Given the description of an element on the screen output the (x, y) to click on. 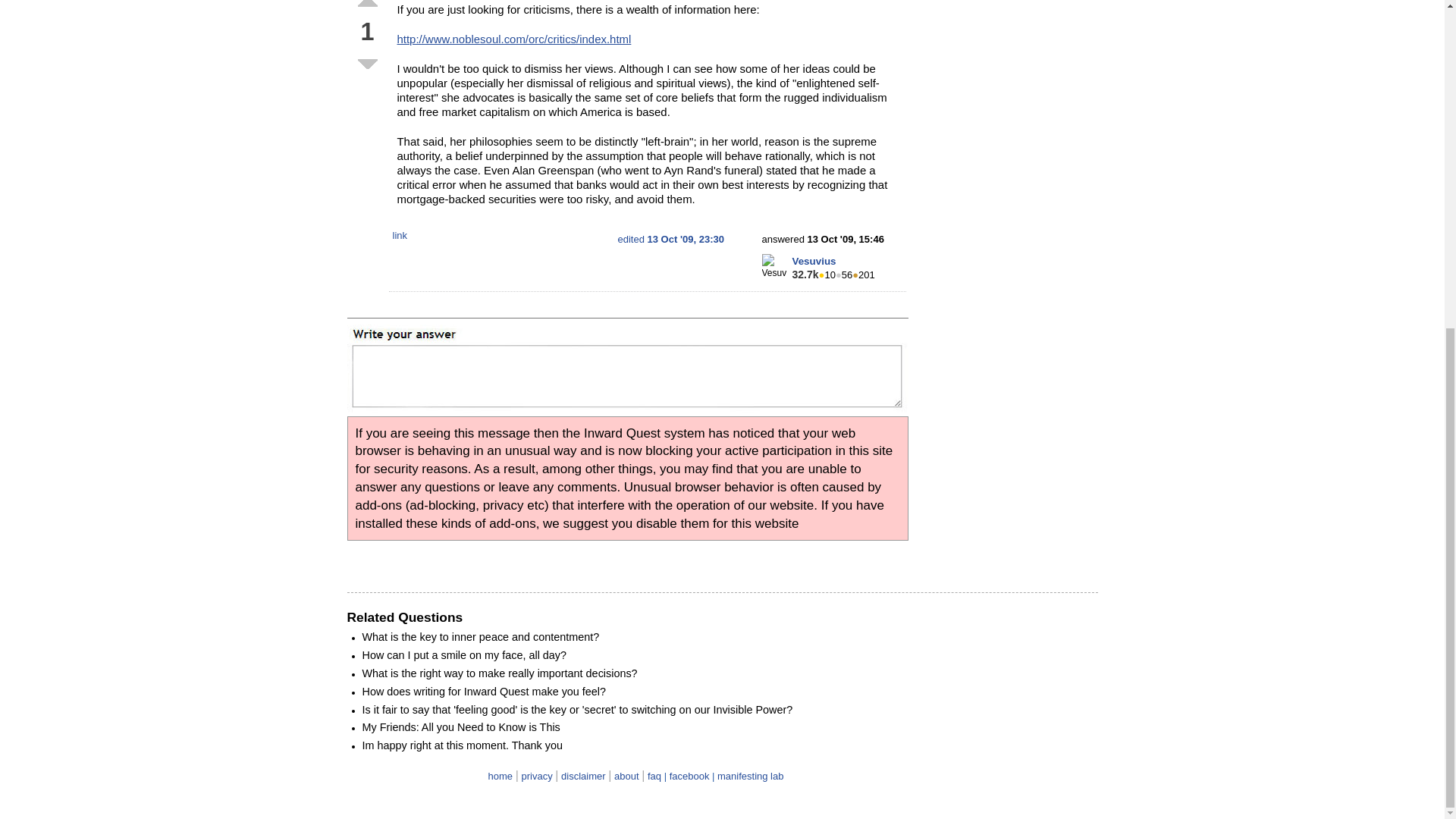
How can I put a smile on my face, all day? (464, 654)
10 badges (826, 274)
Vesuvius (813, 260)
What is the key to inner peace and contentment? (480, 636)
edited 13 Oct '09, 23:30 (670, 238)
current number of votes (367, 32)
link (400, 235)
permanent link to this answer (400, 235)
32699 karma (805, 274)
